Given the description of an element on the screen output the (x, y) to click on. 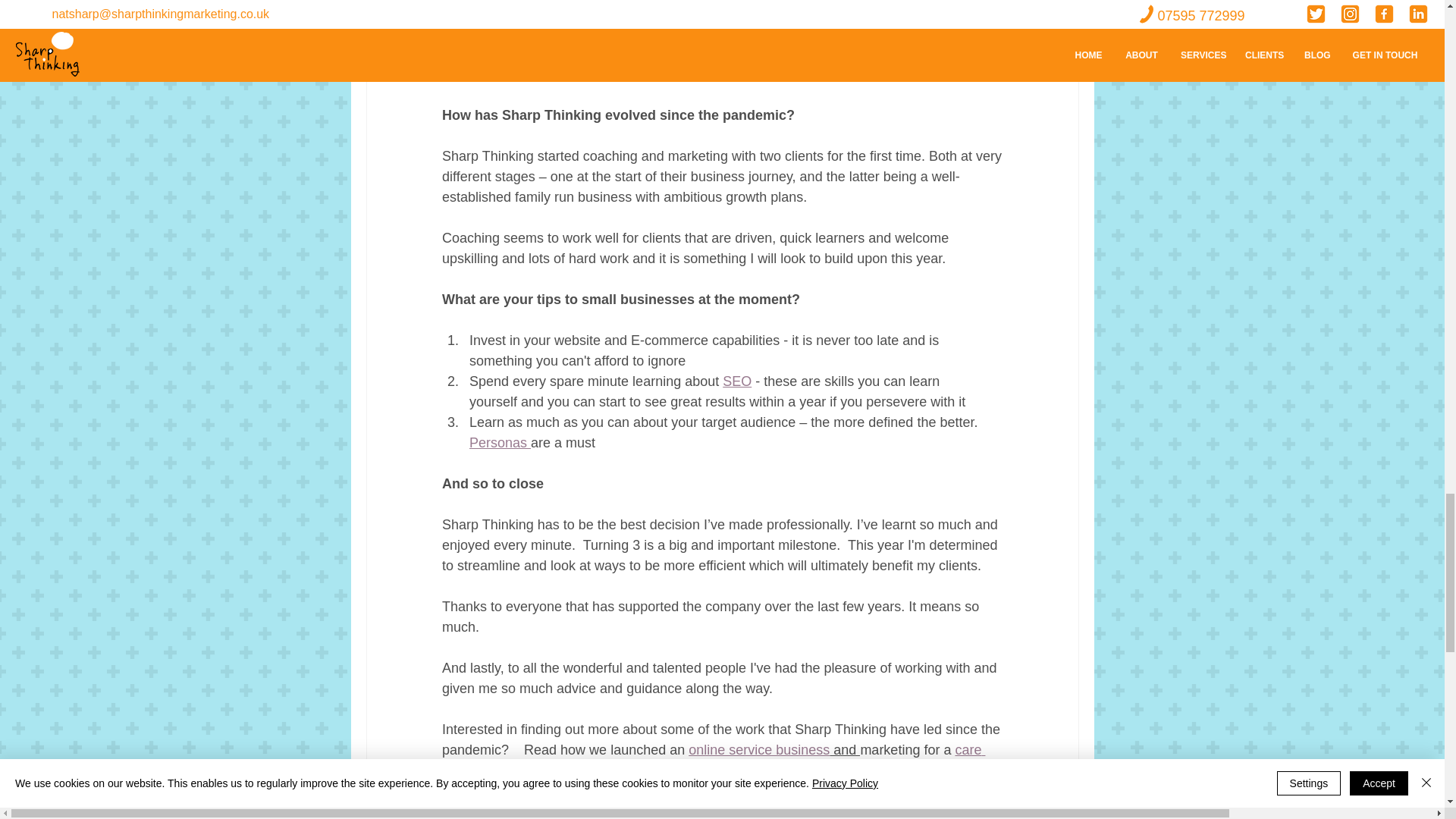
Sharp Thinking (925, 811)
care provider during COVID-19 (712, 760)
Personas  (498, 442)
online service business (758, 749)
SEO (736, 381)
